Given the description of an element on the screen output the (x, y) to click on. 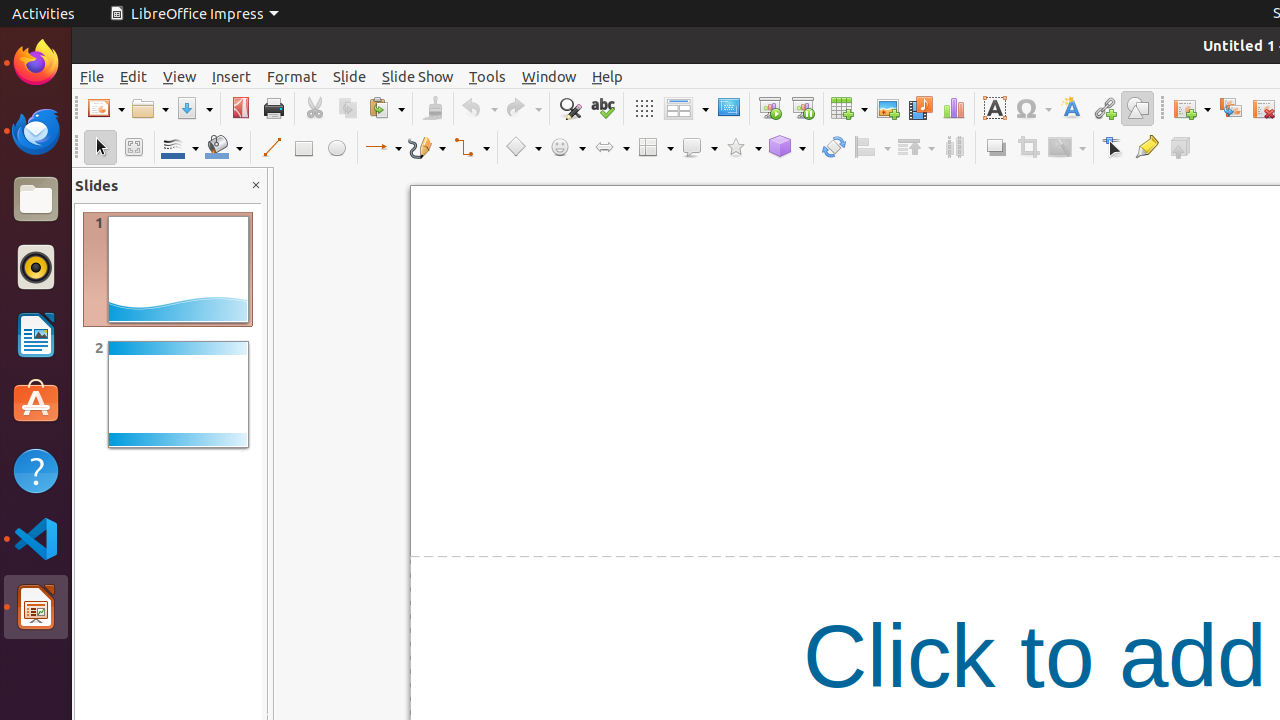
Fill Color Element type: push-button (224, 147)
Visual Studio Code Element type: push-button (36, 538)
Undo Element type: push-button (479, 108)
Rhythmbox Element type: push-button (36, 267)
Master Slide Element type: push-button (728, 108)
